Given the description of an element on the screen output the (x, y) to click on. 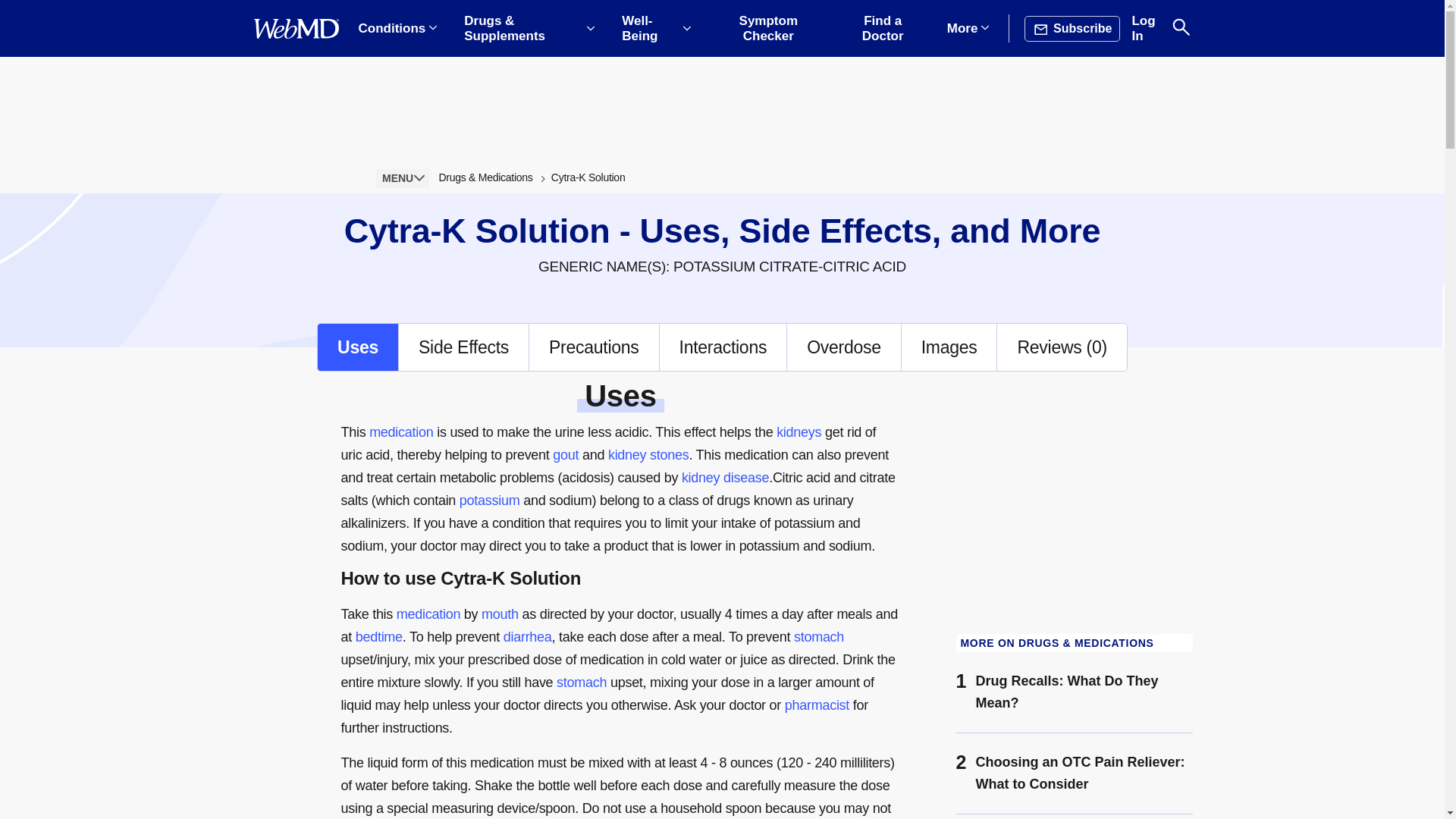
Conditions (397, 28)
